Given the description of an element on the screen output the (x, y) to click on. 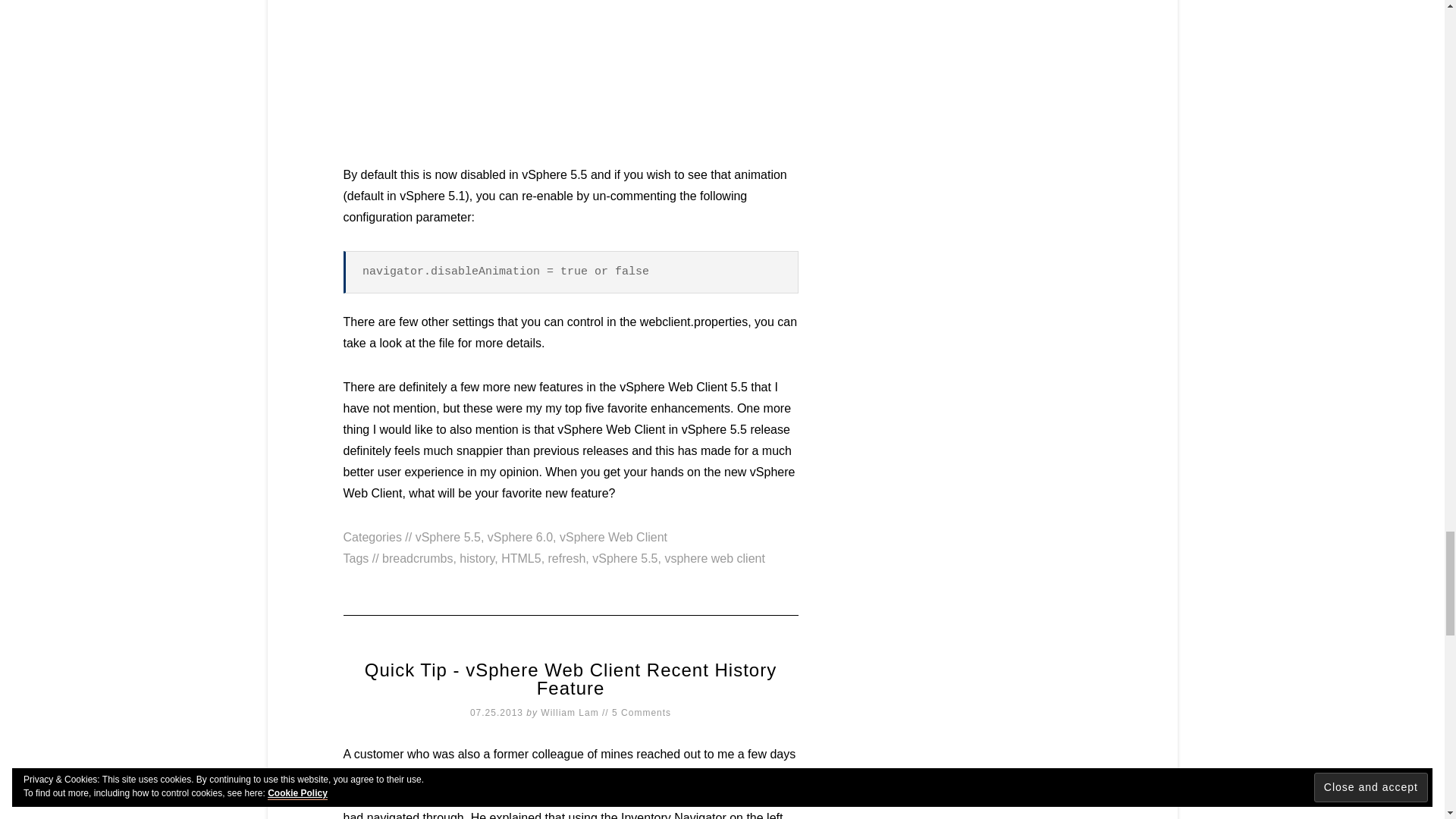
vSphere 6.0 (520, 536)
vSphere 5.5 (447, 536)
vSphere Web Client (612, 536)
